Given the description of an element on the screen output the (x, y) to click on. 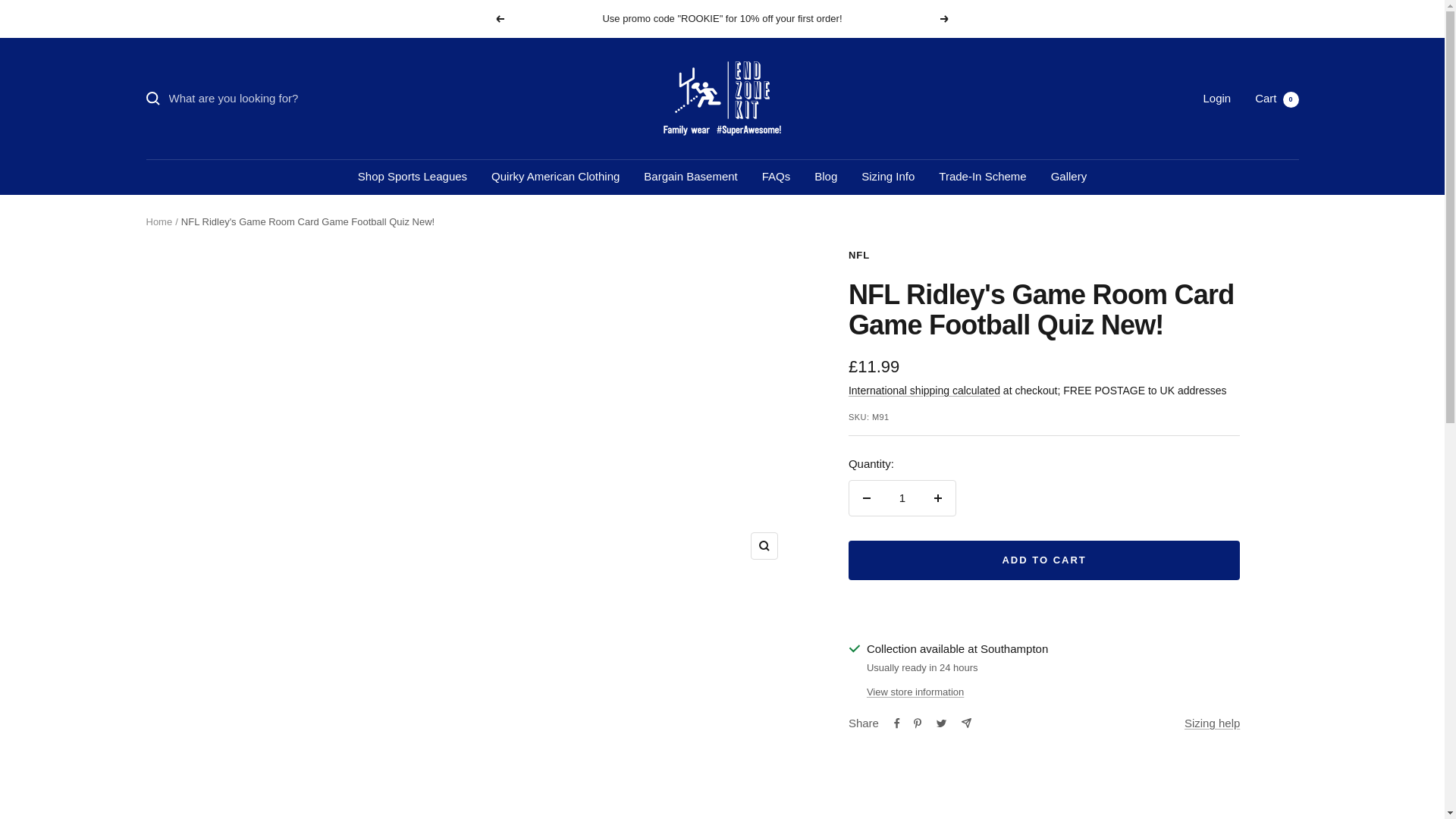
Quirky American Clothing (556, 176)
Trade-In Scheme (982, 176)
Next (944, 18)
Login (1216, 97)
Gallery (1069, 176)
Bargain Basement (689, 176)
1 (901, 497)
Blog (1276, 97)
FAQs (825, 176)
Shop Sports Leagues (775, 176)
Previous (412, 176)
End Zone Kit (499, 18)
Sizing Info (722, 98)
